Given the description of an element on the screen output the (x, y) to click on. 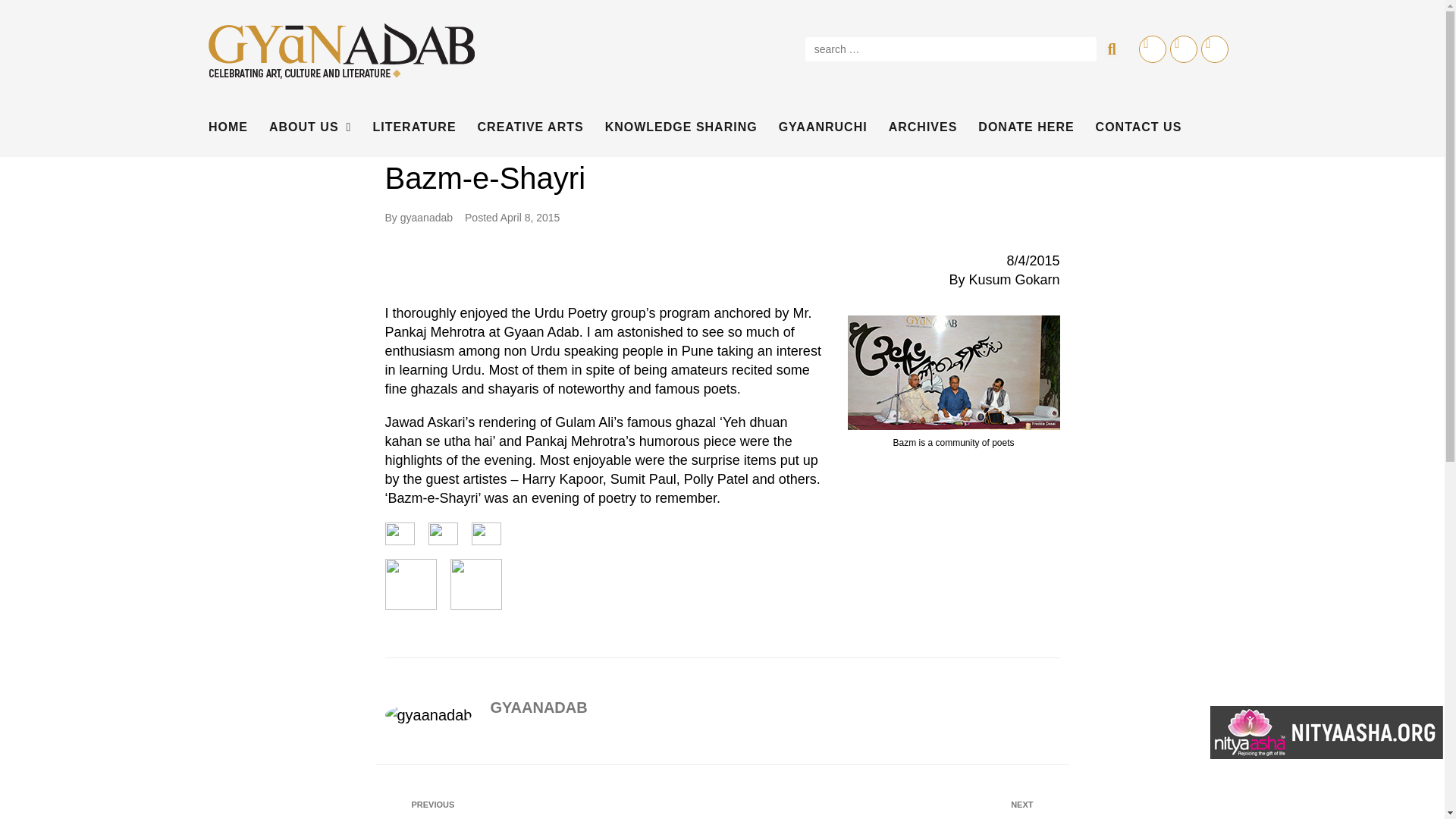
CONTACT US (1139, 127)
KNOWLEDGE SHARING (681, 127)
gyaanadab (426, 217)
GYAANADAB (537, 707)
GYAANRUCHI (822, 127)
Bazm is a community of poets  (953, 372)
HOME (227, 127)
CREATIVE ARTS (530, 127)
DONATE HERE (1026, 127)
ABOUT US (309, 127)
